Given the description of an element on the screen output the (x, y) to click on. 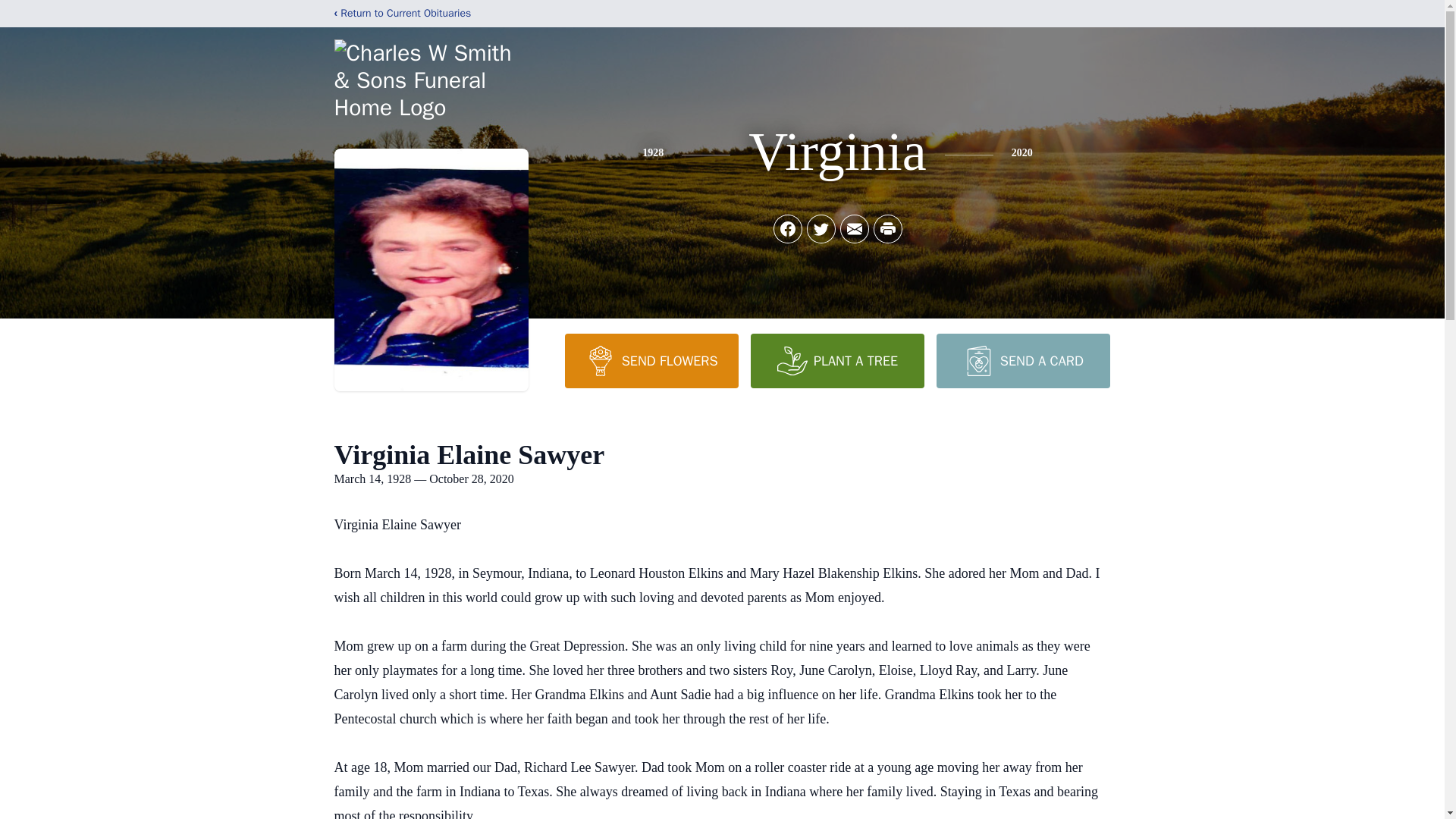
SEND FLOWERS (651, 360)
SEND A CARD (1022, 360)
PLANT A TREE (837, 360)
